Given the description of an element on the screen output the (x, y) to click on. 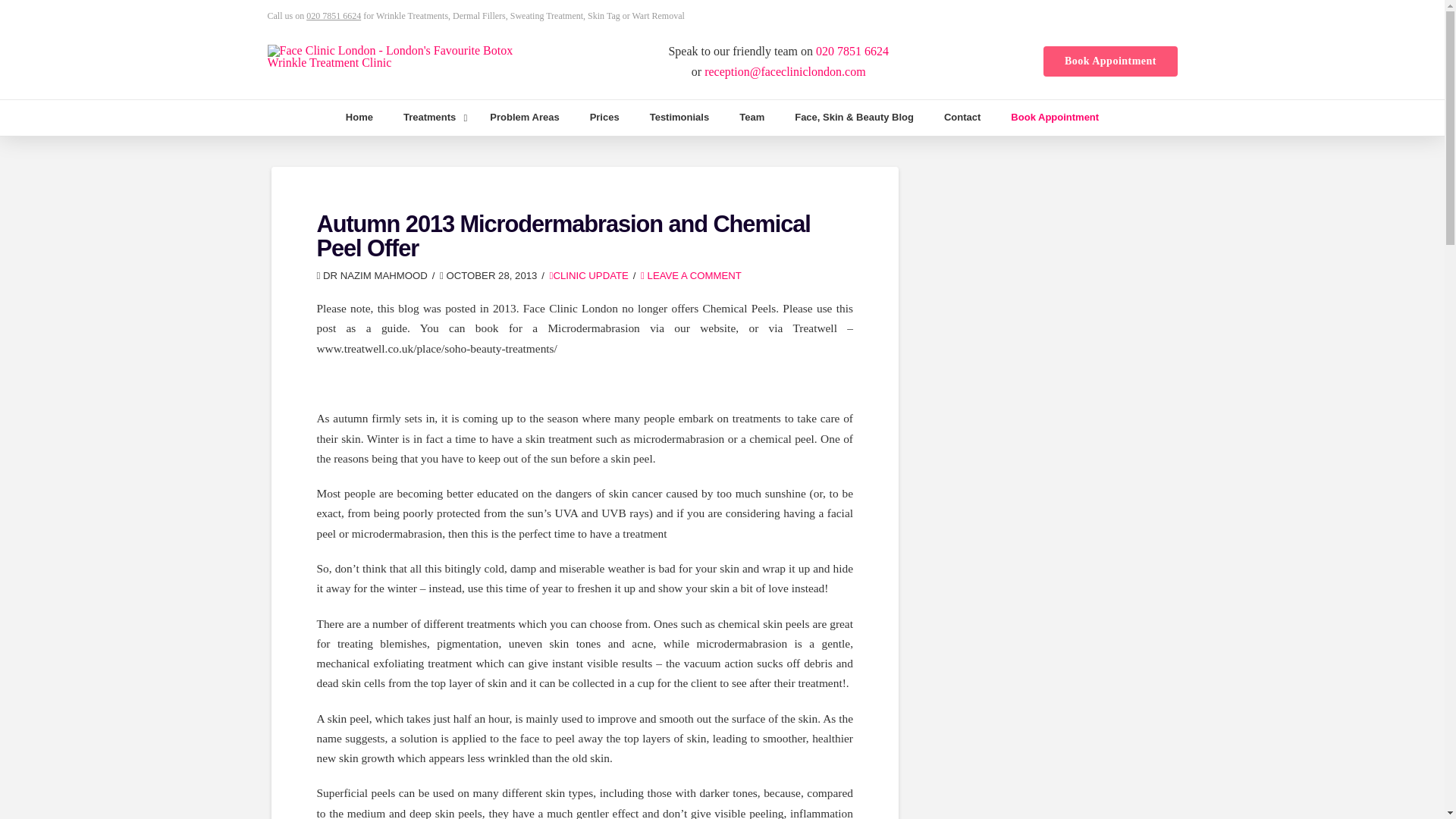
Testimonials (679, 117)
Treatments (431, 117)
Prices (604, 117)
Home (359, 117)
Contact (961, 117)
Book Appointment (1110, 60)
Team (750, 117)
Problem Areas (523, 117)
020 7851 6624 (851, 51)
Book Appointment (1054, 117)
